Given the description of an element on the screen output the (x, y) to click on. 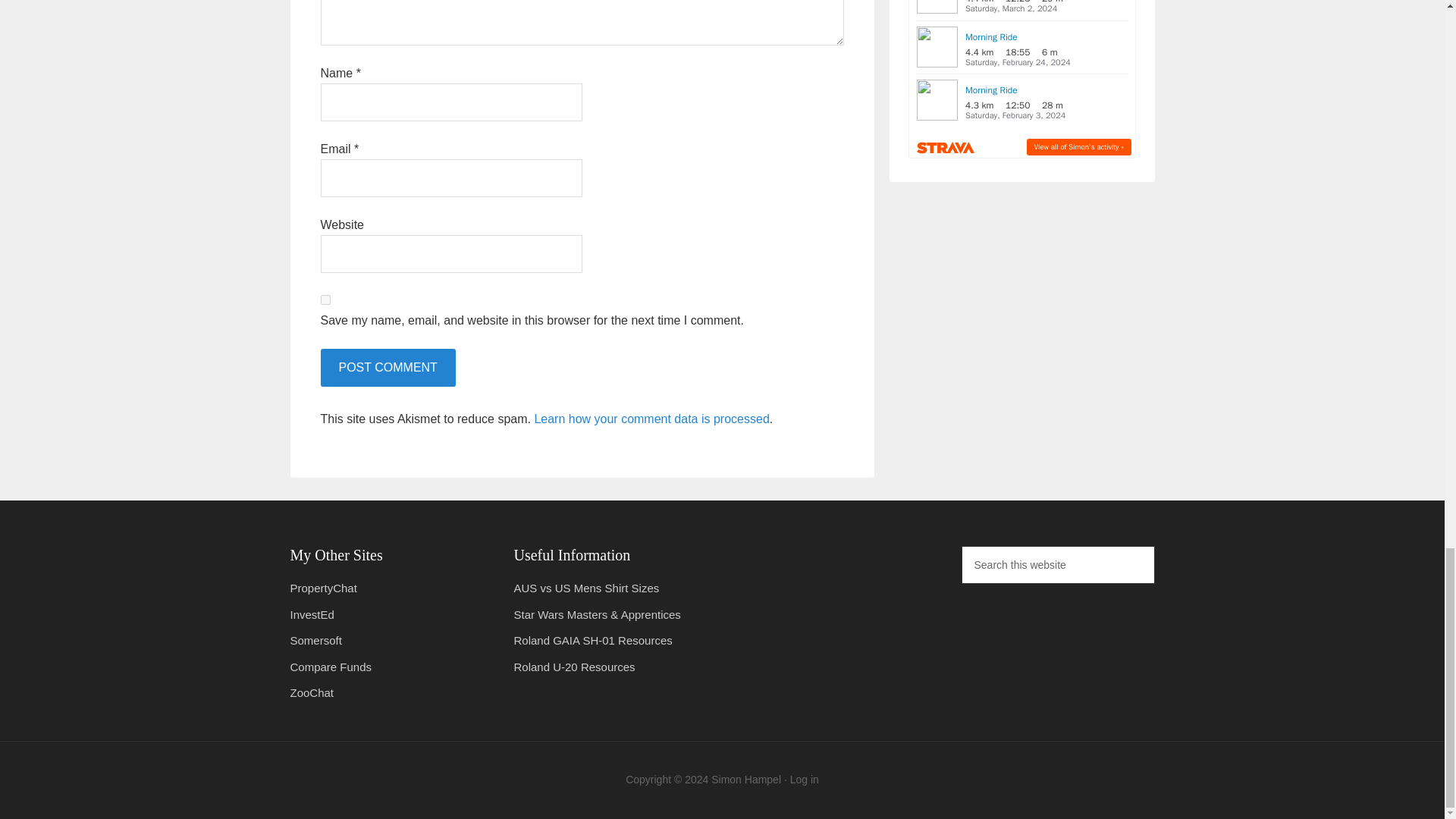
Learn how your comment data is processed (651, 418)
Investor Education (311, 614)
yes (325, 299)
Post Comment (387, 367)
Post Comment (387, 367)
Compare Managed Funds and ETFs (330, 666)
Analysis of Tweets by Australian MPs (322, 587)
